Given the description of an element on the screen output the (x, y) to click on. 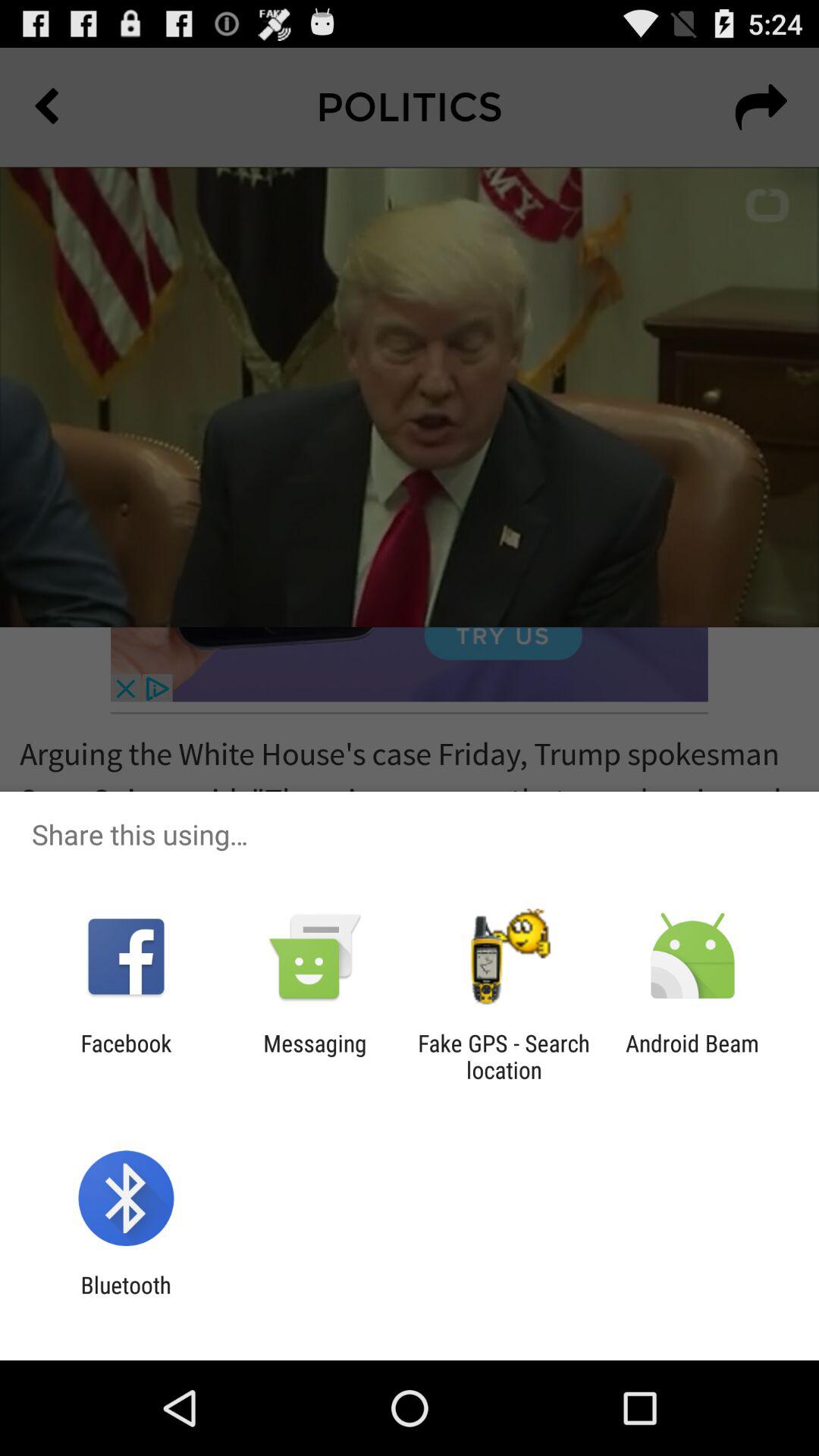
select the app to the right of the fake gps search item (692, 1056)
